Given the description of an element on the screen output the (x, y) to click on. 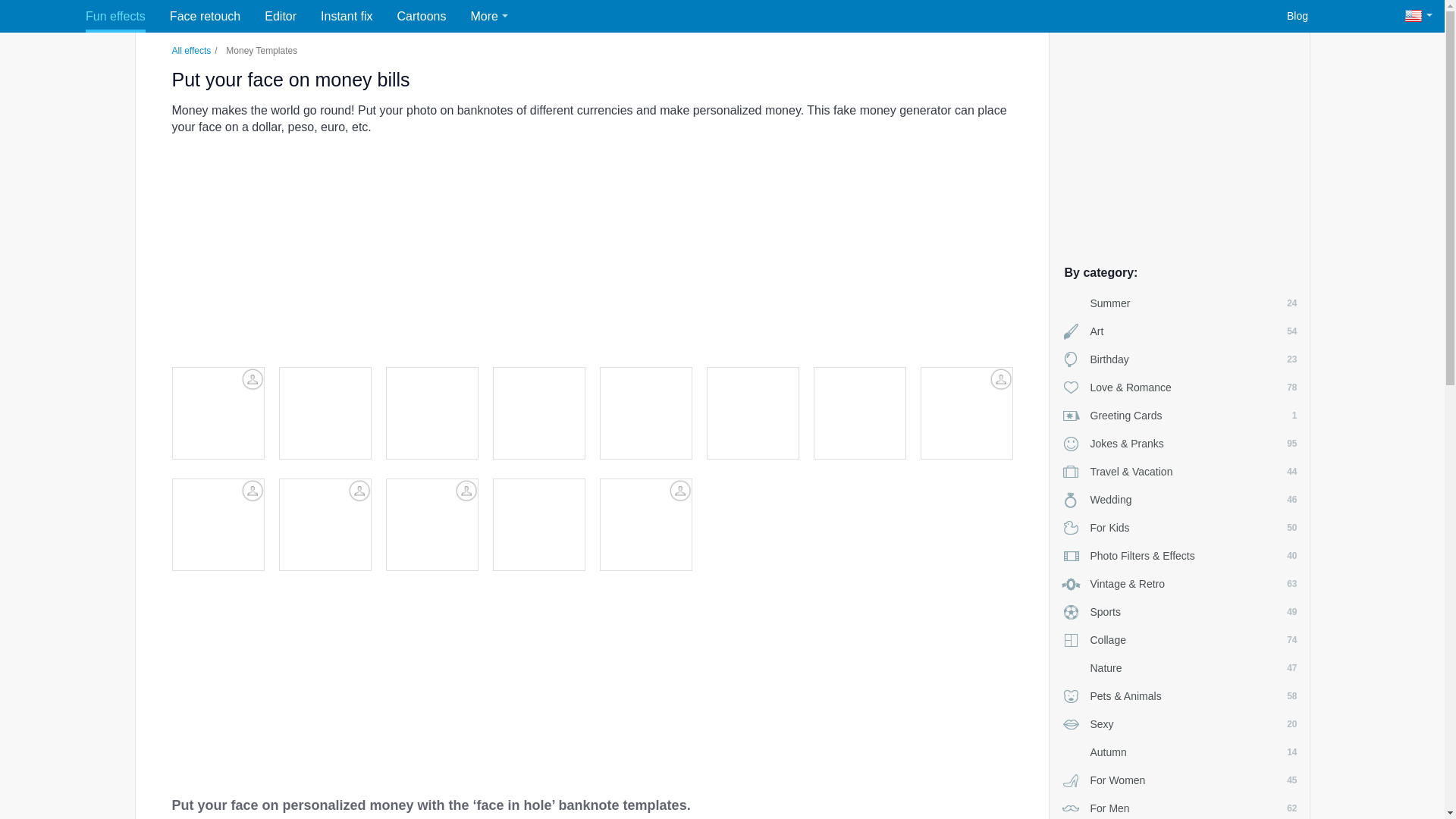
Advertisement (1178, 142)
Instant fix (1178, 752)
Cartoons (1178, 806)
